Given the description of an element on the screen output the (x, y) to click on. 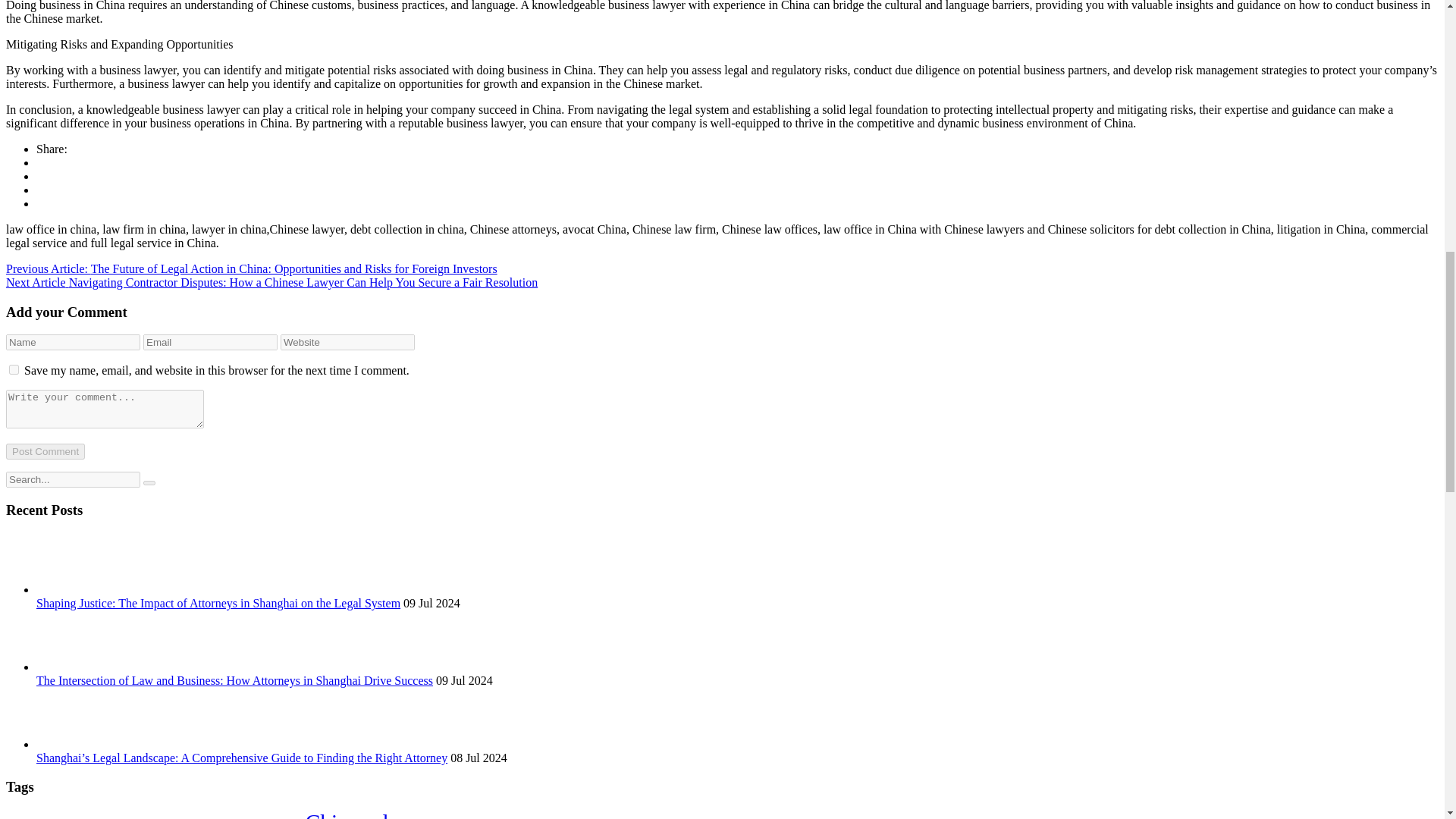
yes (13, 369)
Post Comment (44, 451)
Post Comment (44, 451)
